Given the description of an element on the screen output the (x, y) to click on. 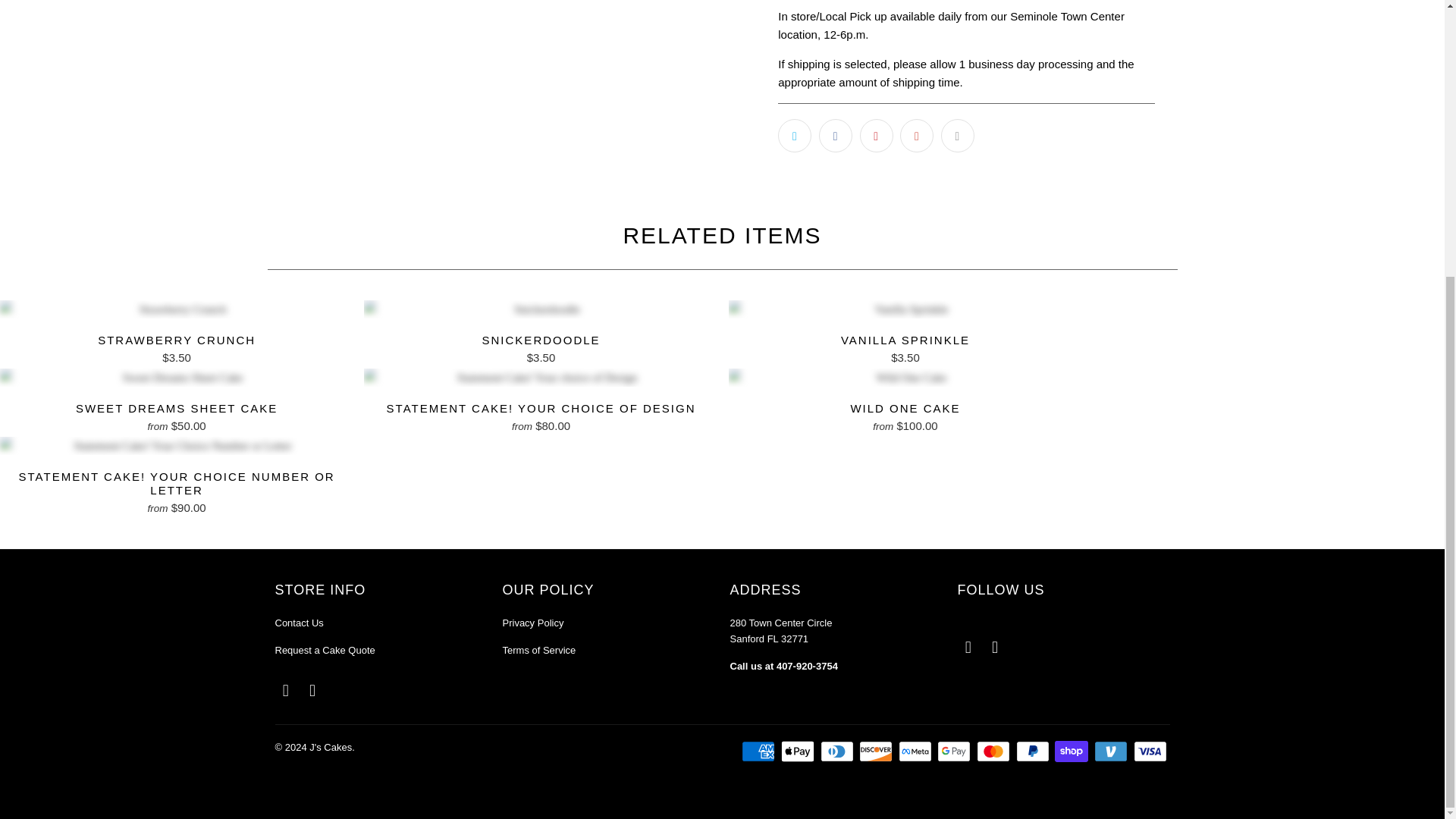
Share this on Twitter (793, 135)
Shop Pay (1072, 751)
Mastercard (994, 751)
Venmo (1112, 751)
Share this on Facebook (834, 135)
Email this to a friend (957, 135)
Share this on Pinterest (876, 135)
J's Cakes on Instagram (312, 690)
J's Cakes on Facebook (967, 647)
Apple Pay (798, 751)
Diners Club (839, 751)
Discover (877, 751)
American Express (759, 751)
Visa (1150, 751)
J's Cakes on Instagram (995, 647)
